Given the description of an element on the screen output the (x, y) to click on. 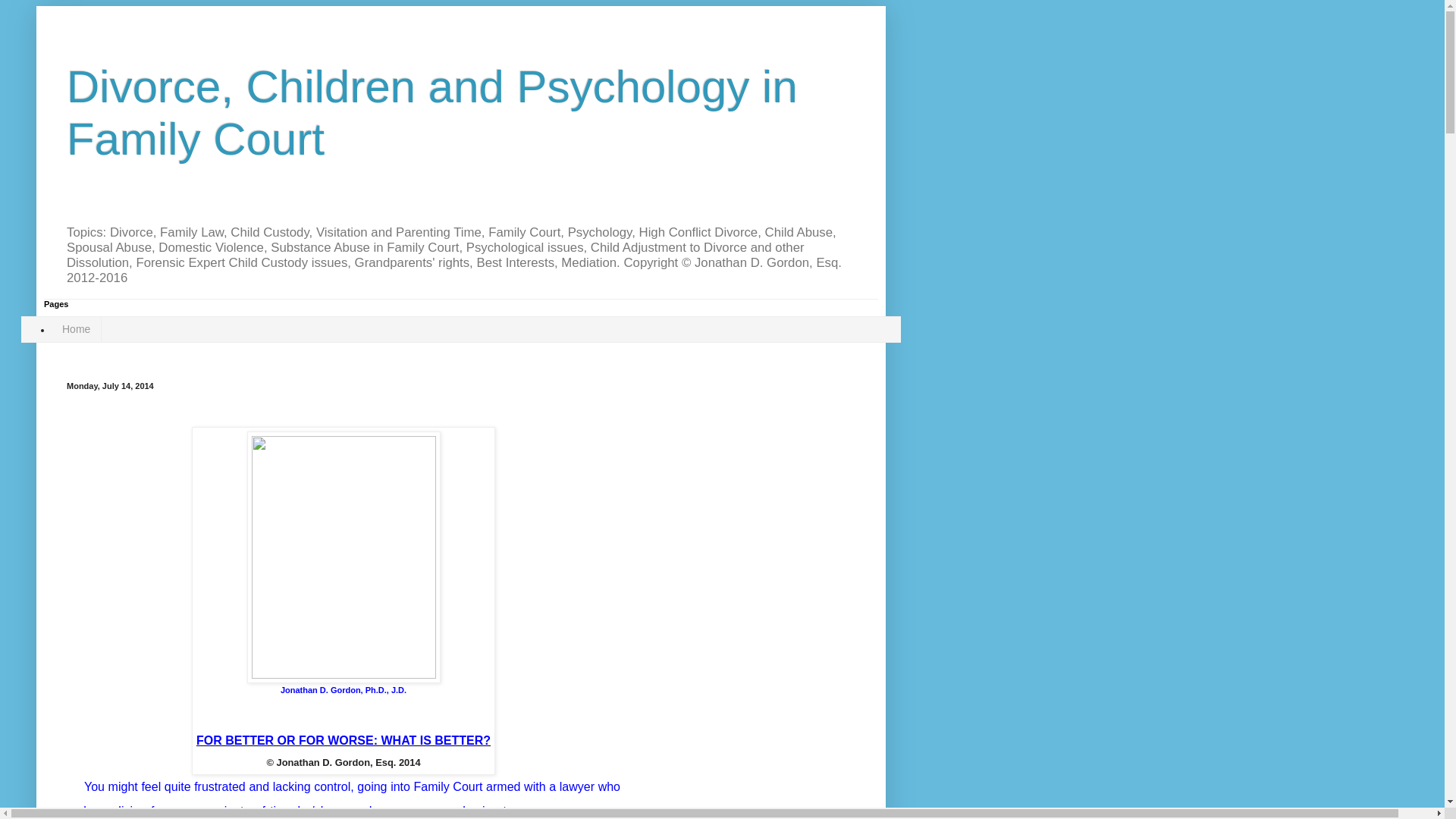
Home (75, 329)
Divorce, Children and Psychology in Family Court (431, 112)
